Given the description of an element on the screen output the (x, y) to click on. 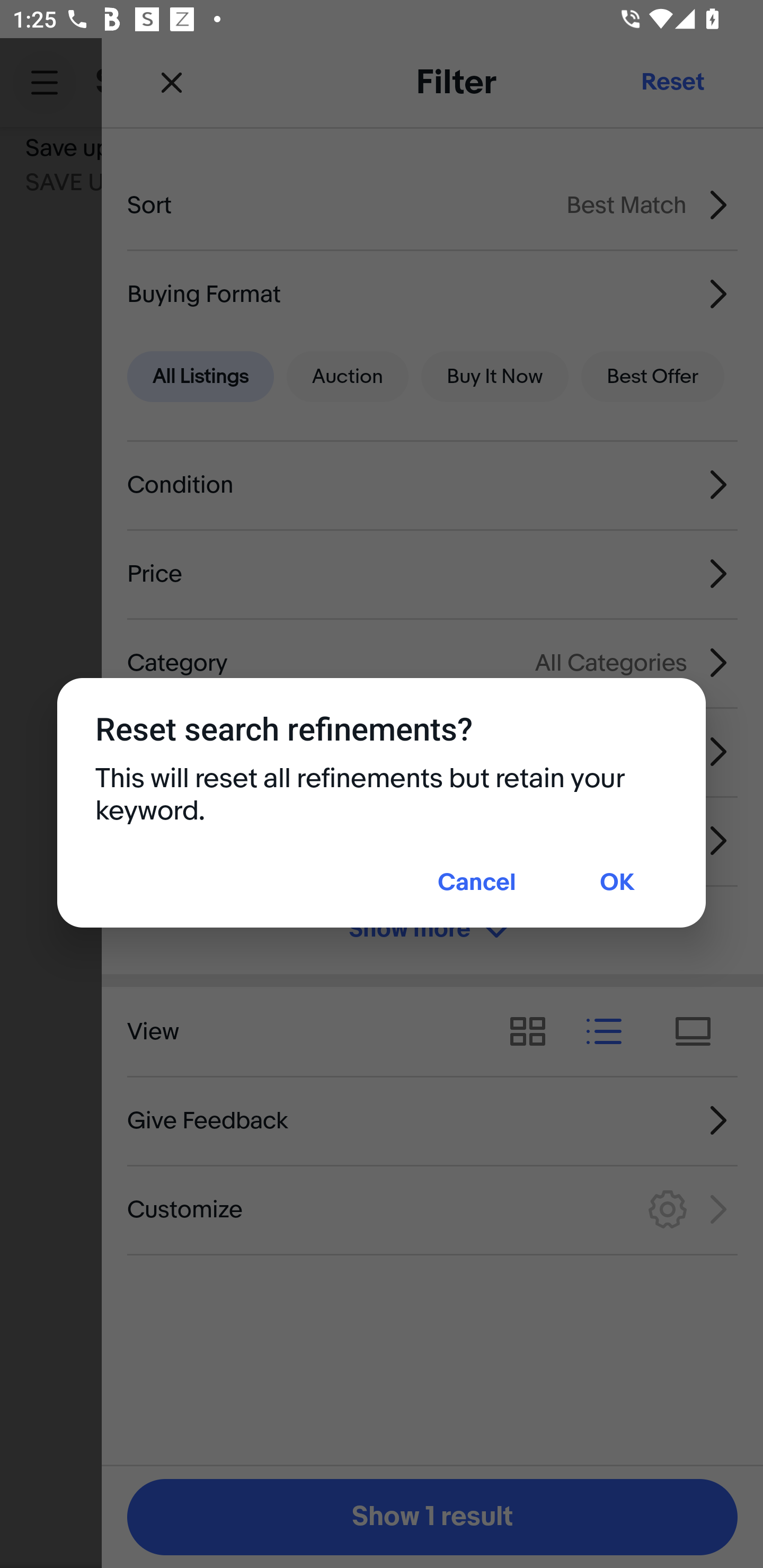
Cancel (476, 883)
OK (616, 883)
